Given the description of an element on the screen output the (x, y) to click on. 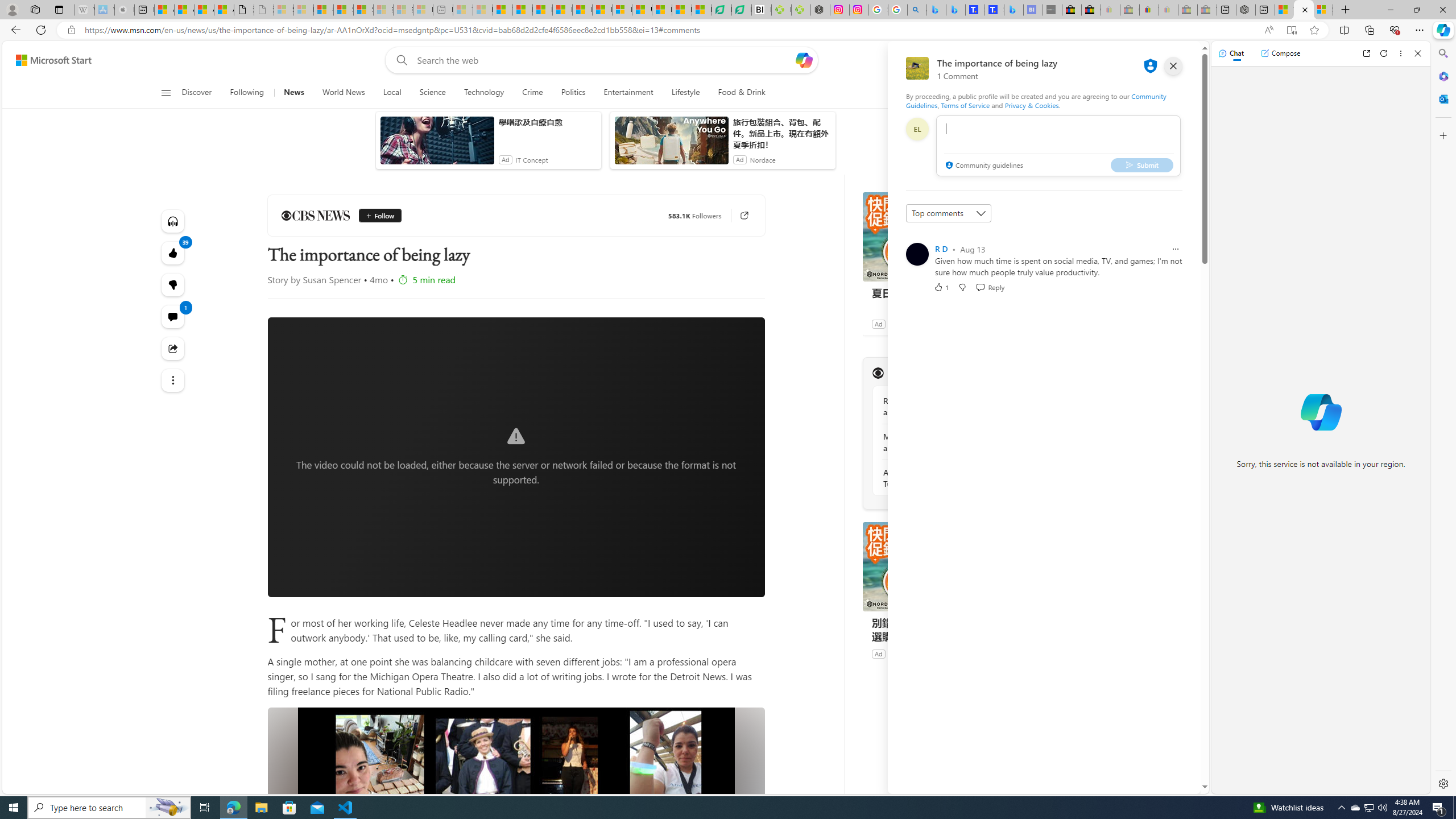
Go to publisher's site (737, 215)
39 Like (172, 252)
comment-box (1058, 145)
